Given the description of an element on the screen output the (x, y) to click on. 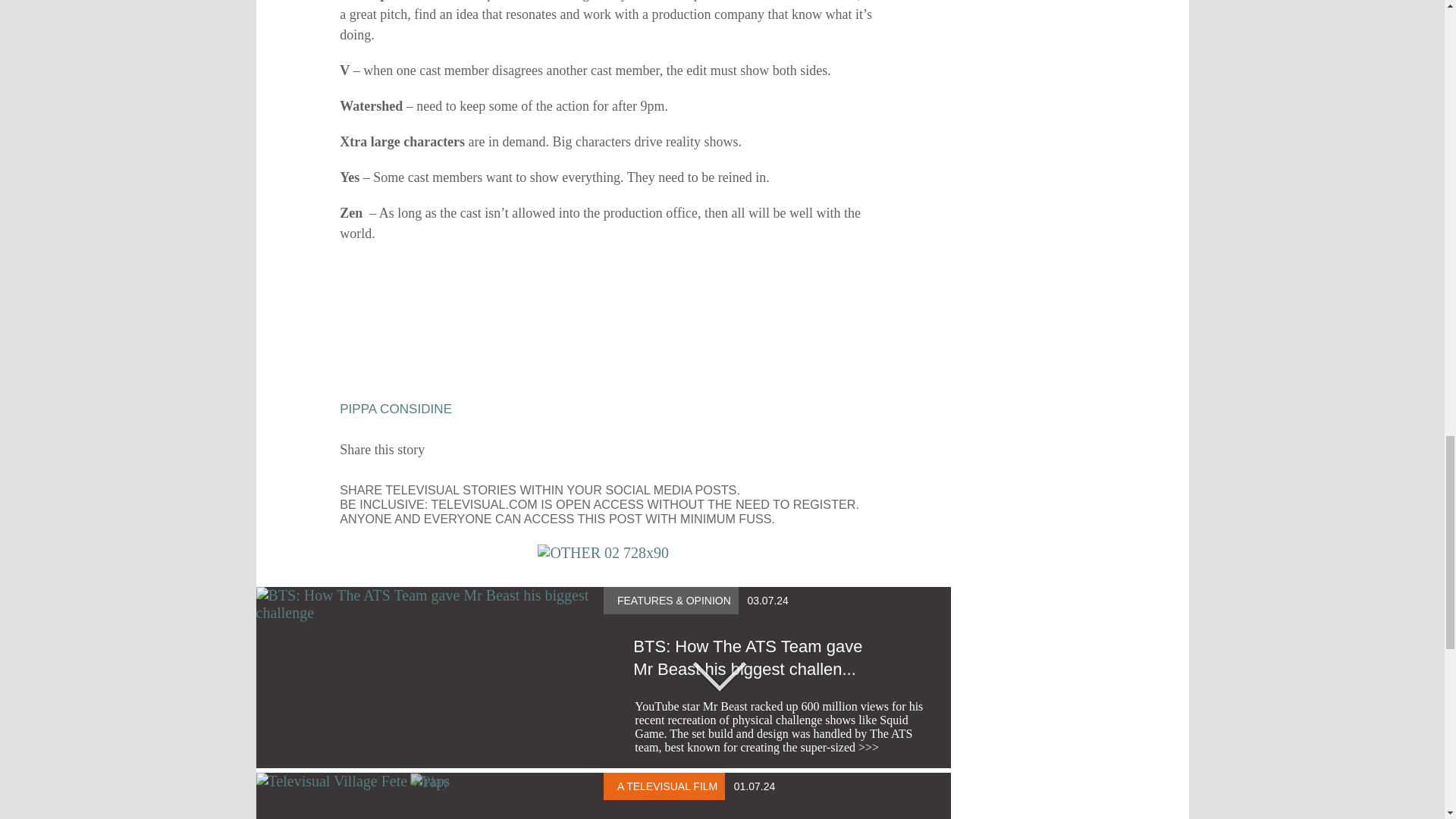
PIPPA CONSIDINE (395, 409)
